Given the description of an element on the screen output the (x, y) to click on. 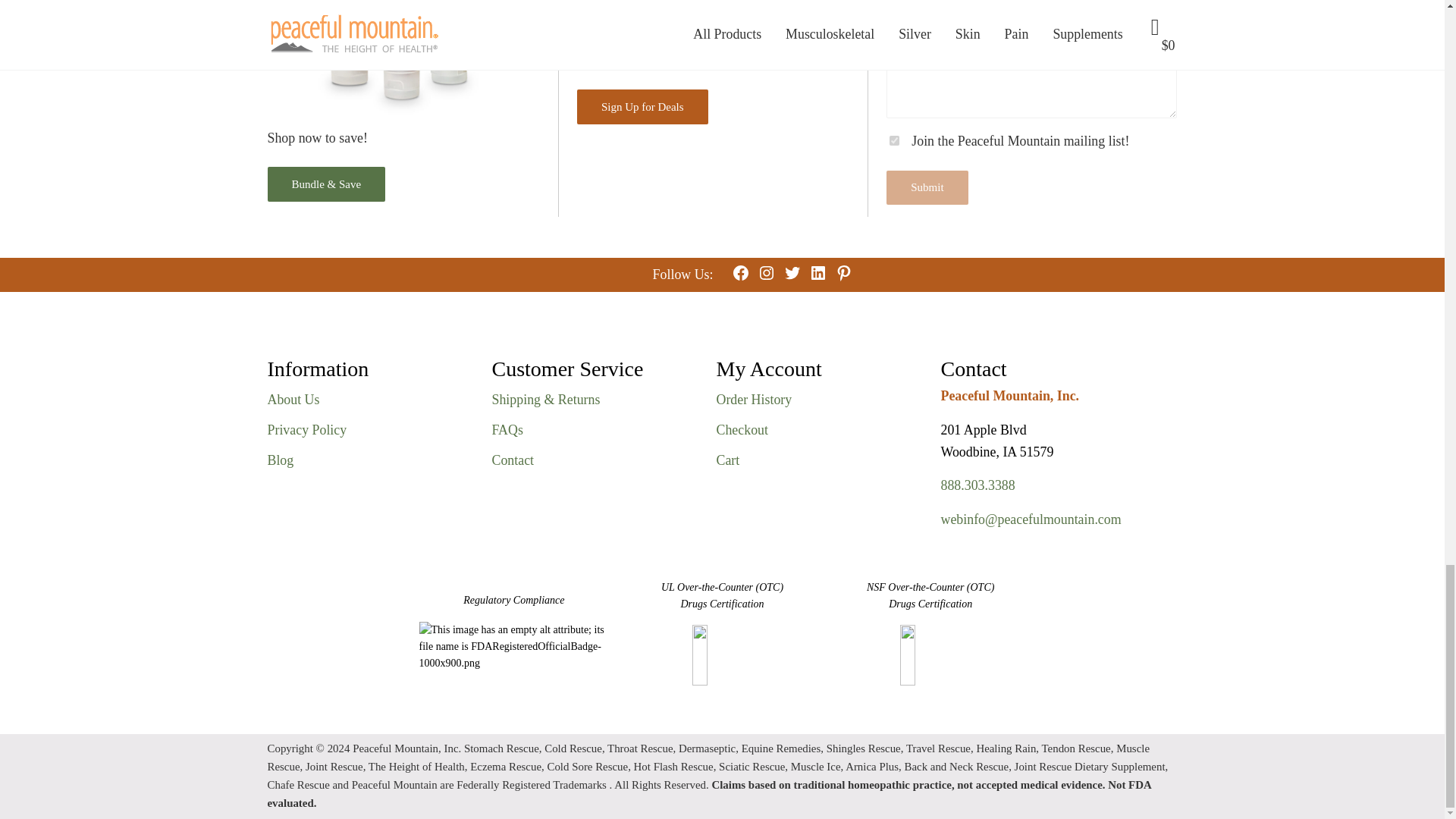
1 (894, 140)
Submit (927, 187)
